Given the description of an element on the screen output the (x, y) to click on. 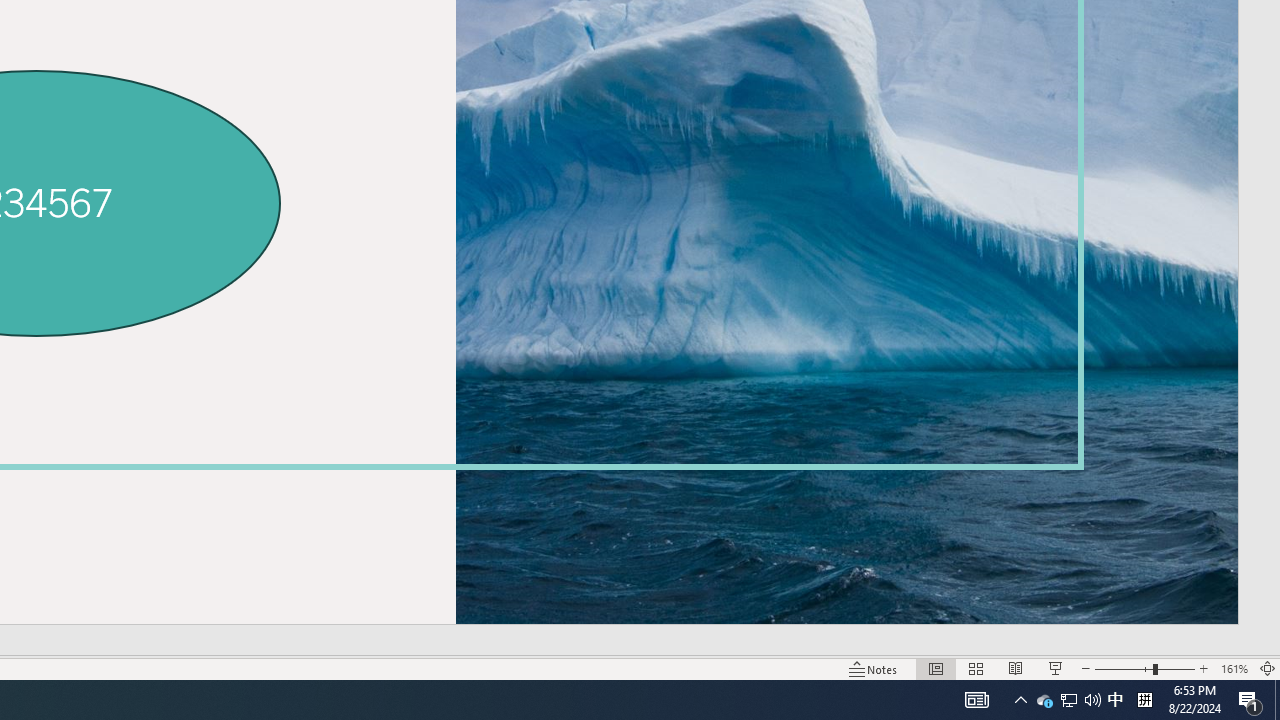
Zoom 161% (1234, 668)
